Given the description of an element on the screen output the (x, y) to click on. 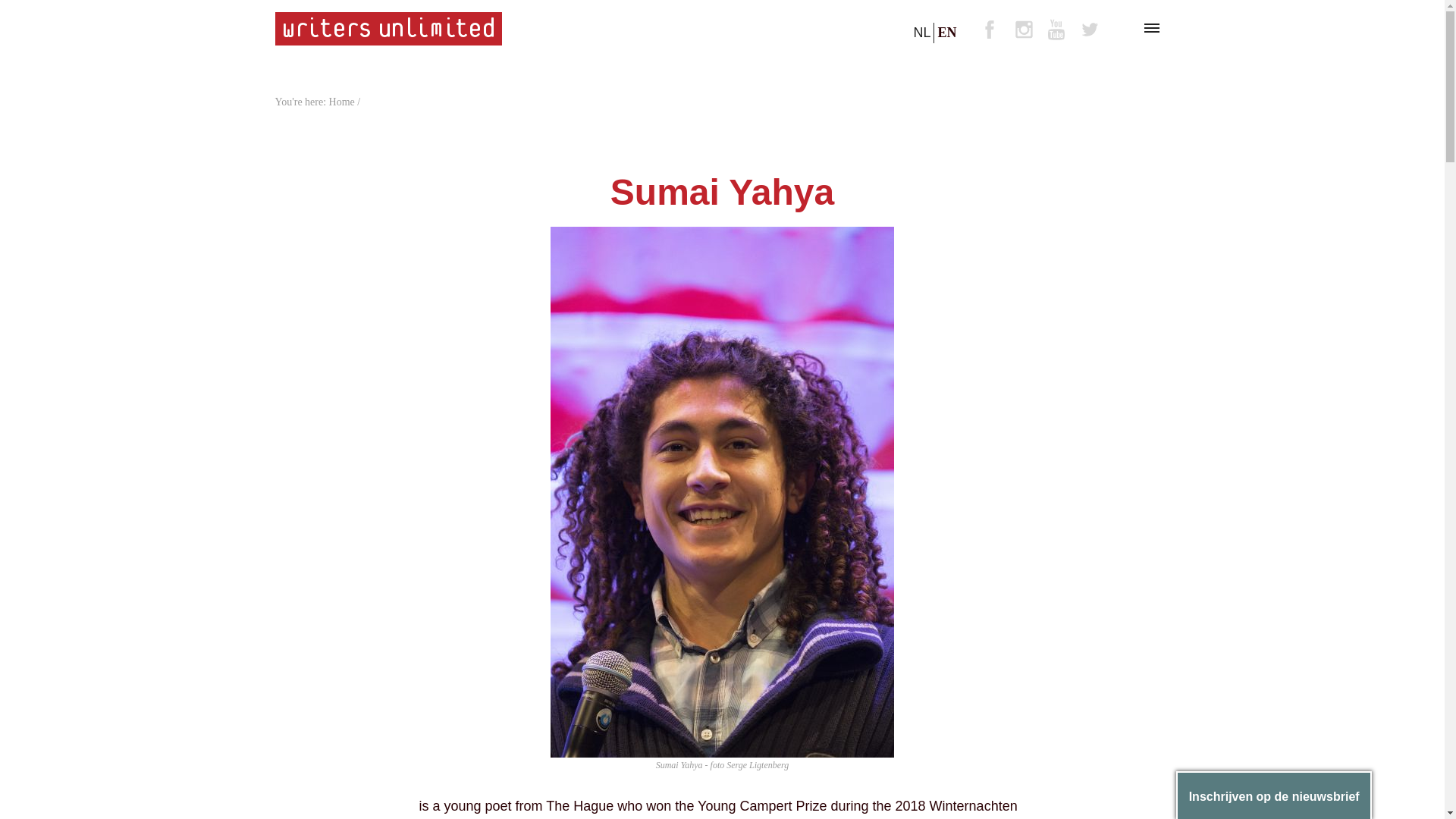
NL (921, 32)
Home (342, 101)
Inschrijven op de nieuwsbrief (1274, 796)
